Given the description of an element on the screen output the (x, y) to click on. 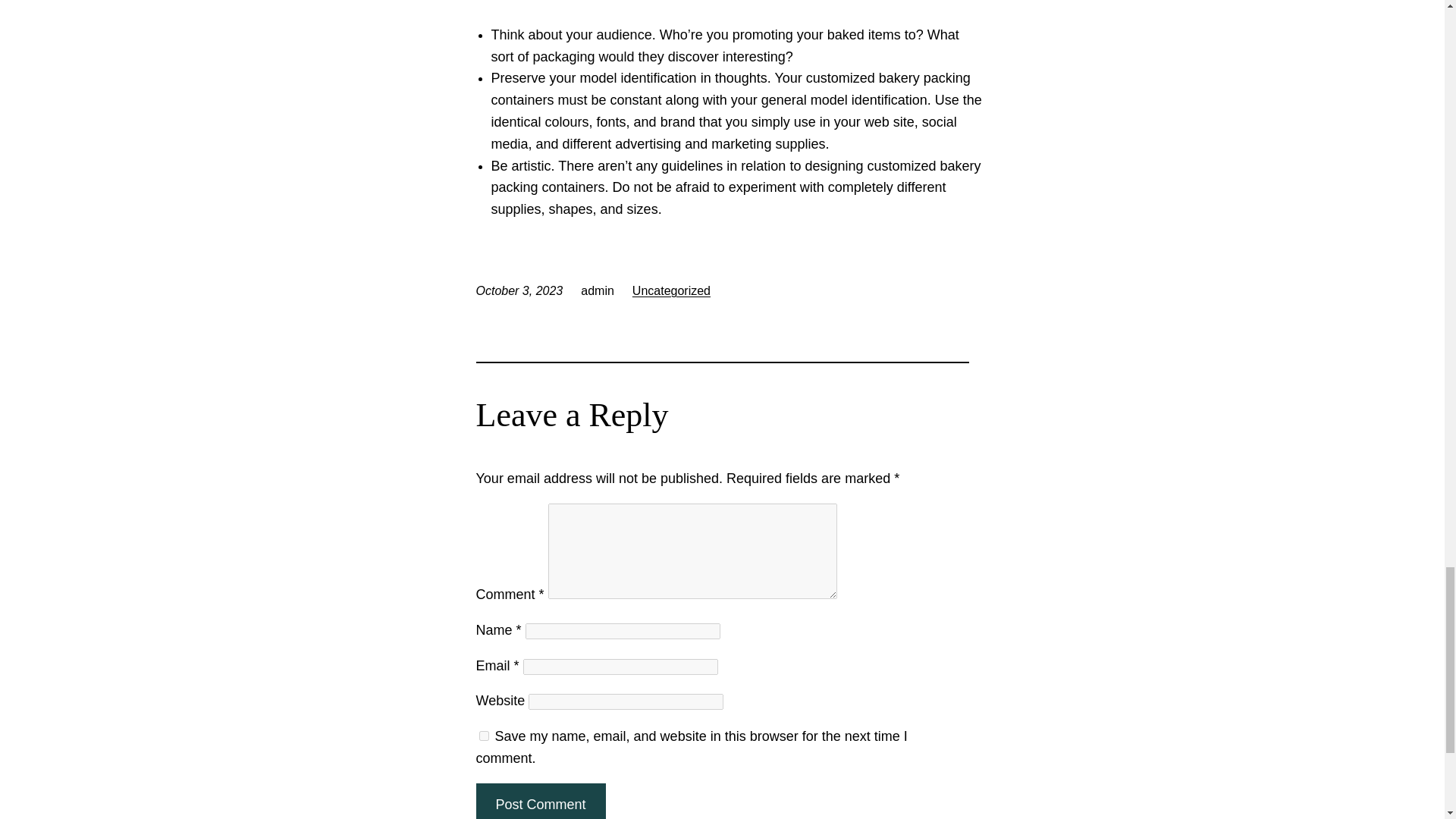
yes (484, 736)
Post Comment (540, 800)
Post Comment (540, 800)
Uncategorized (670, 290)
